Given the description of an element on the screen output the (x, y) to click on. 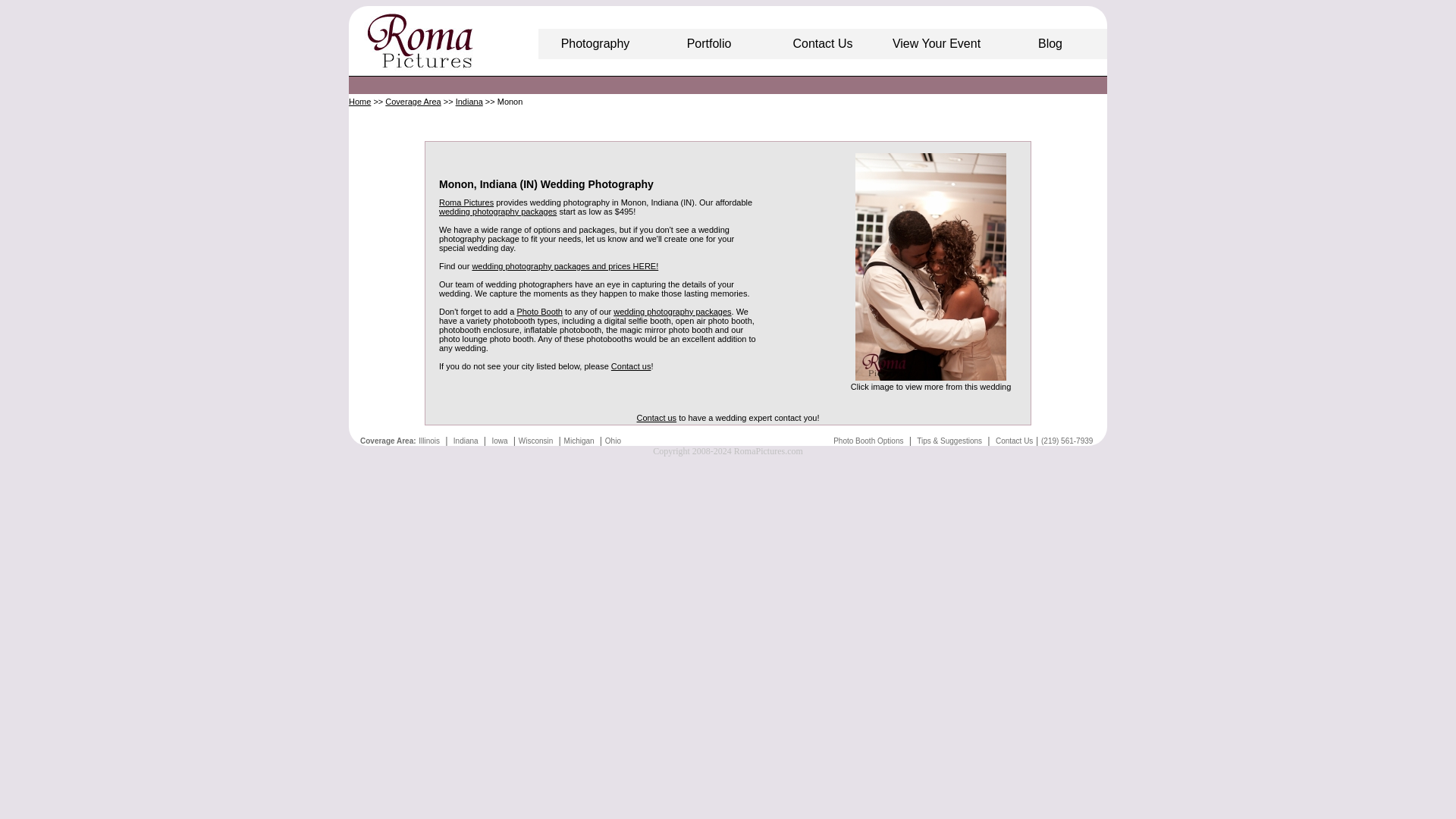
Coverage Area (413, 101)
Ohio (613, 440)
Contact us (630, 366)
Wisconsin (535, 440)
Indiana (465, 440)
Photo Booth Options (867, 440)
Roma Pictures (466, 202)
Contact us (657, 417)
Indiana (469, 101)
Michigan (579, 440)
Illinois (429, 440)
Contact Us (1013, 440)
Iowa (499, 440)
wedding photography packages (671, 311)
Home (360, 101)
